Given the description of an element on the screen output the (x, y) to click on. 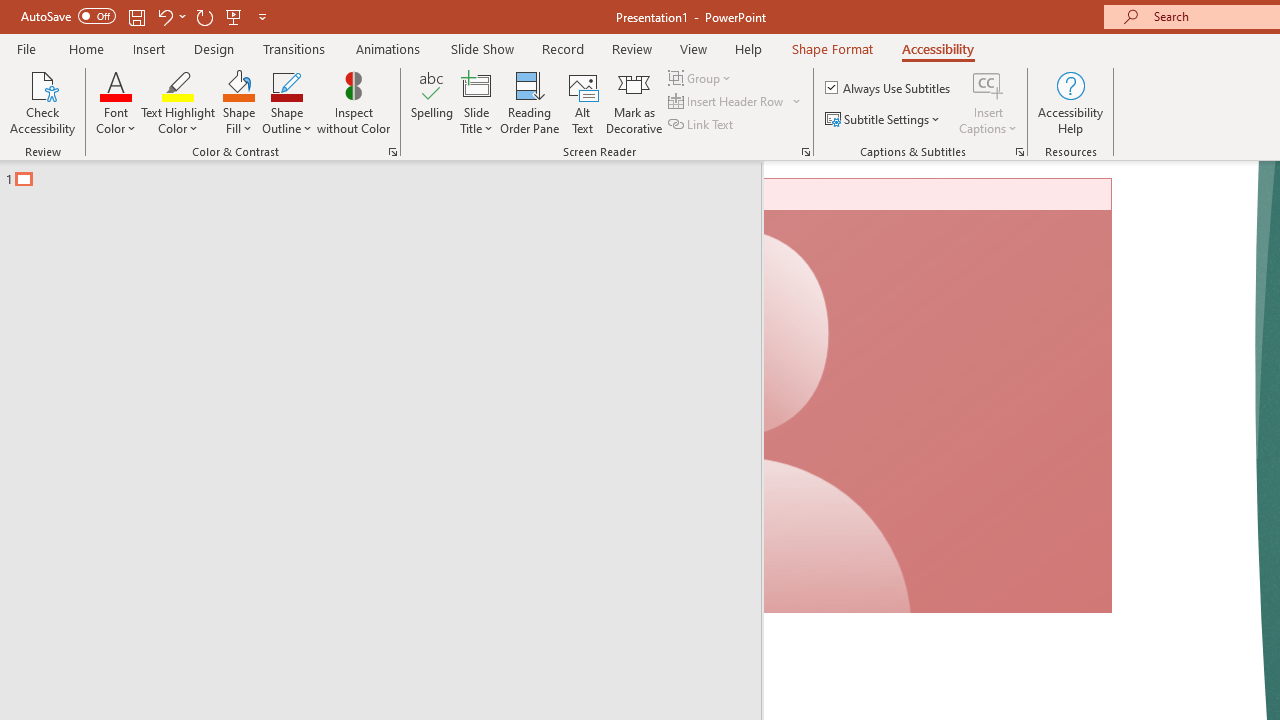
Font Color Red (116, 84)
Insert Header Row (727, 101)
Slide Title (476, 102)
Insert Captions (988, 102)
Mark as Decorative (634, 102)
Captions & Subtitles (1019, 151)
Slide Title (476, 84)
